Given the description of an element on the screen output the (x, y) to click on. 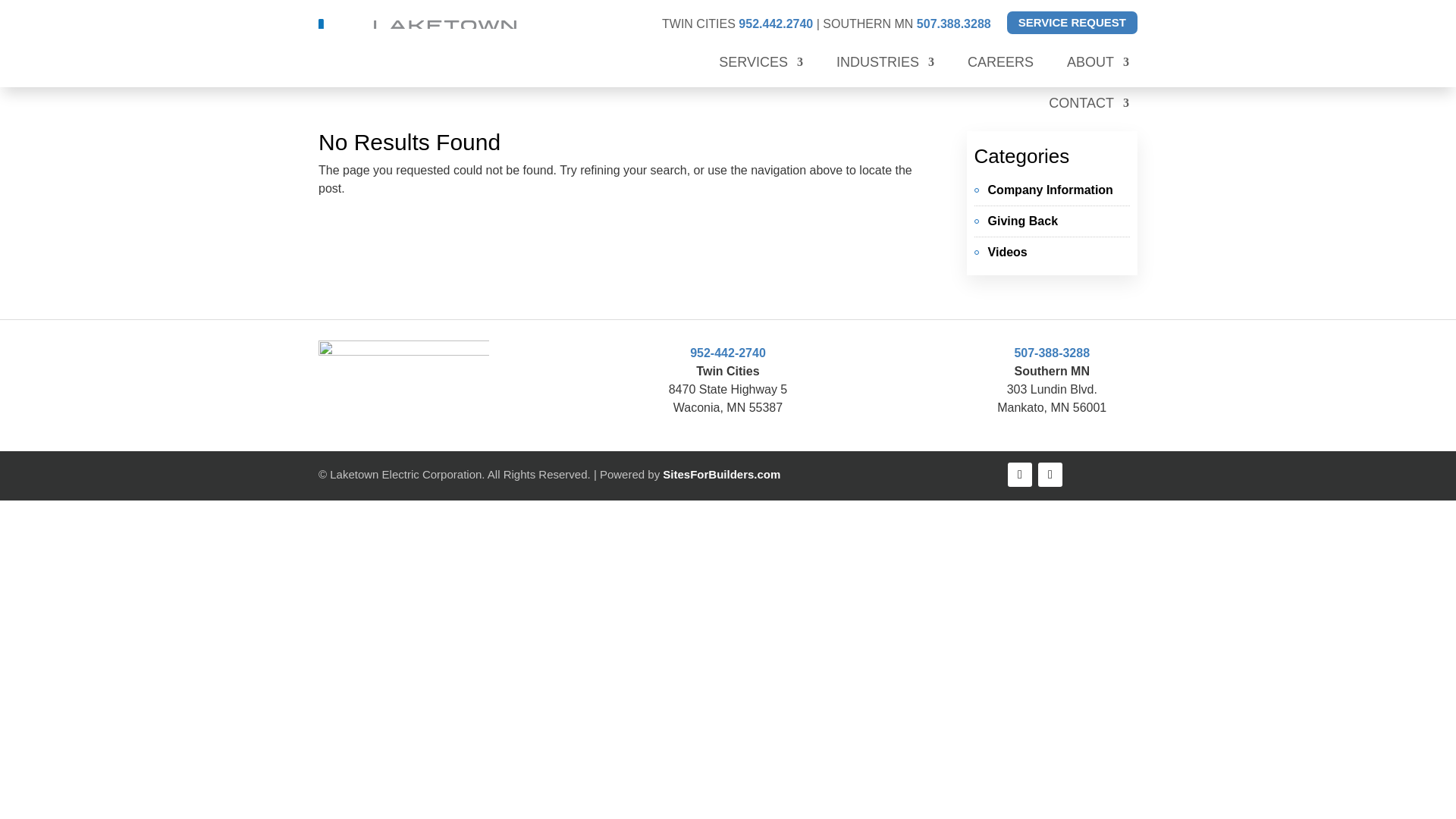
952-442-2740 (727, 351)
INDUSTRIES (884, 64)
507.388.3288 (954, 23)
SERVICES (761, 64)
Videos (1007, 251)
CONTACT (1088, 105)
laketown-electric-logo (435, 44)
SERVICE REQUEST (1072, 22)
Giving Back (1023, 219)
Company Information (1050, 189)
